Given the description of an element on the screen output the (x, y) to click on. 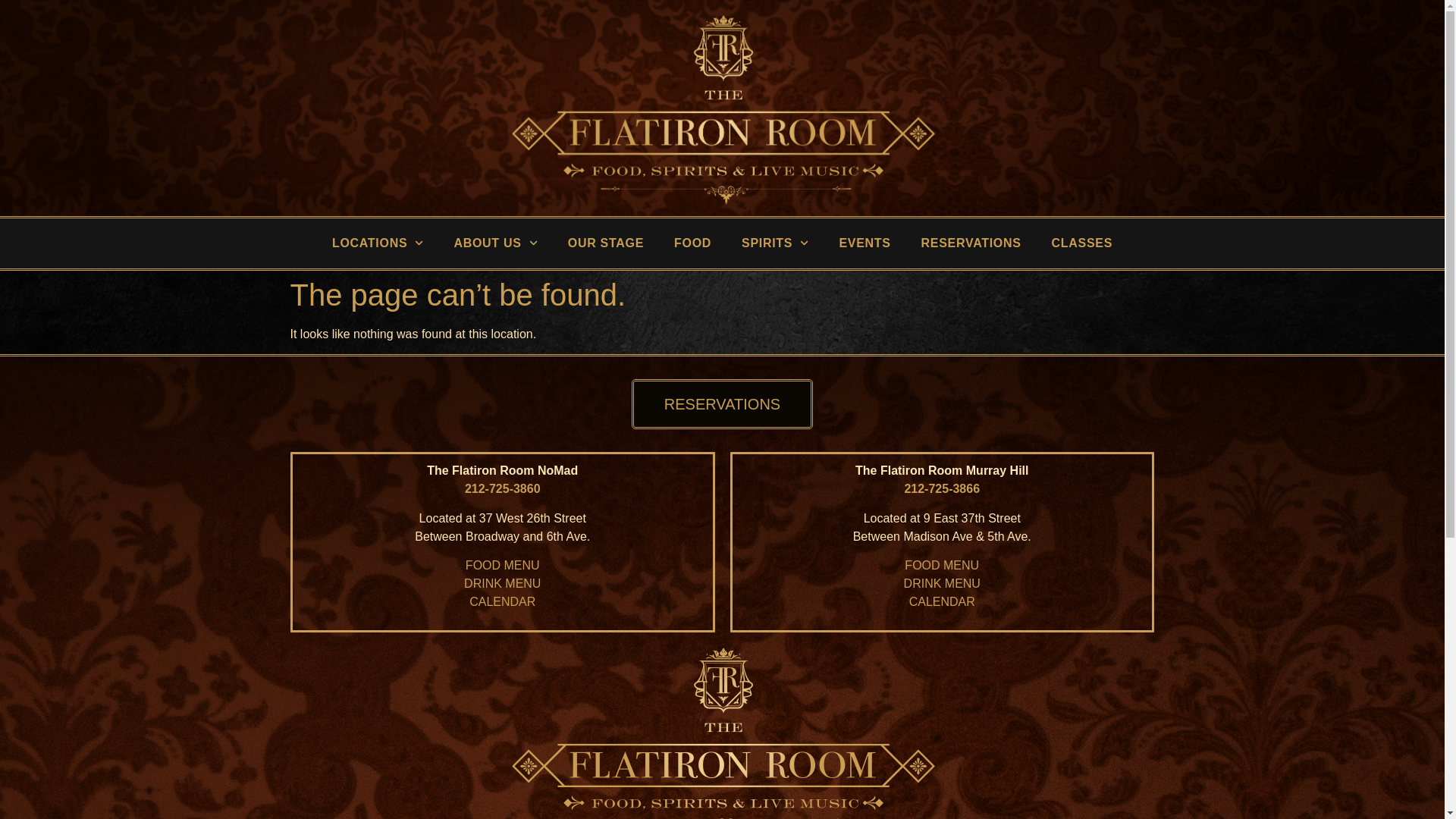
RESERVATIONS (970, 243)
EVENTS (864, 243)
OUR STAGE (606, 243)
RESERVATIONS (721, 404)
FOOD (692, 243)
FOOD MENU (502, 564)
212-725-3860 (502, 488)
TFRLogo (722, 729)
LOCATIONS (378, 243)
TFRLogo (722, 107)
DRINK MENU (502, 583)
CLASSES (1081, 243)
SPIRITS (775, 243)
ABOUT US (494, 243)
